Given the description of an element on the screen output the (x, y) to click on. 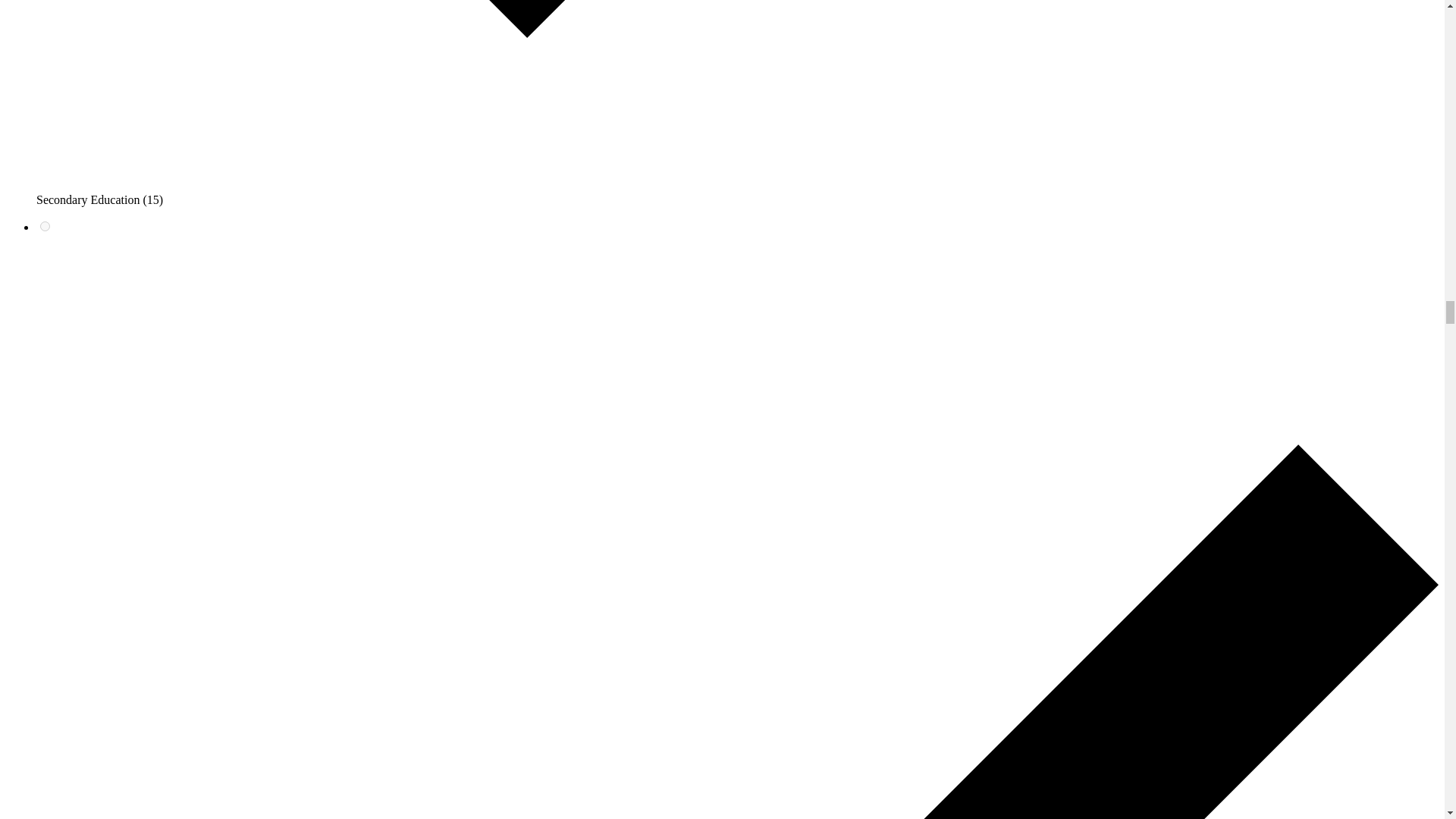
2 (44, 225)
